Given the description of an element on the screen output the (x, y) to click on. 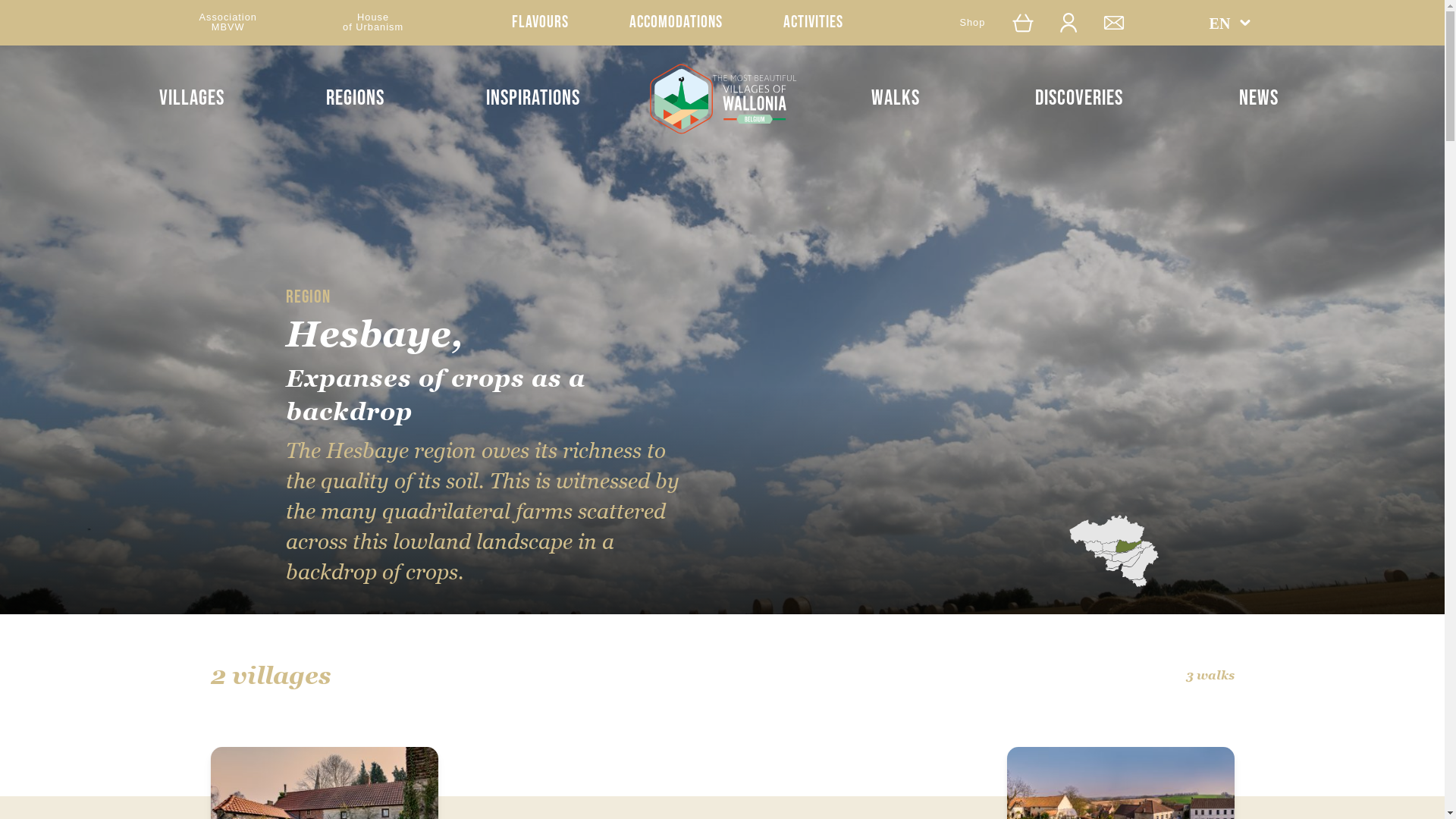
Walks Element type: text (895, 97)
Activities Element type: text (813, 22)
Association
MBVW Element type: text (227, 22)
EN Element type: text (1230, 22)
Inspirations Element type: text (533, 97)
Shop Element type: text (972, 22)
3 walks Element type: text (1210, 674)
Flavours Element type: text (540, 22)
News Element type: text (1258, 97)
Regions Element type: text (355, 97)
Discoveries Element type: text (1079, 97)
Accomodations Element type: text (676, 22)
House
of Urbanism Element type: text (373, 22)
Villages Element type: text (191, 97)
